Given the description of an element on the screen output the (x, y) to click on. 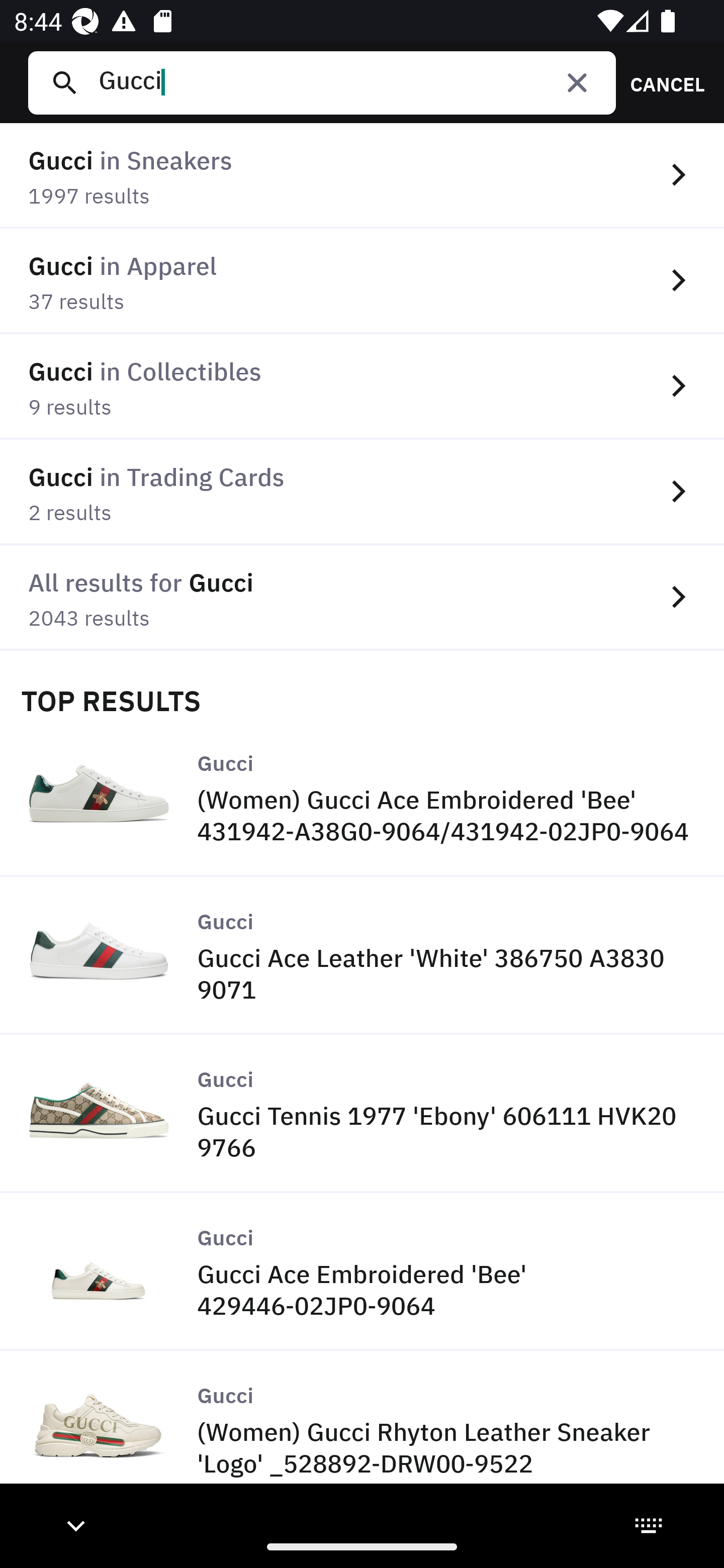
CANCEL (660, 82)
Gucci (349, 82)
 (577, 82)
Gucci  in Sneakers 1997 results  (362, 175)
Gucci  in Apparel 37 results  (362, 280)
Gucci  in Collectibles 9 results  (362, 386)
Gucci  in Trading Cards 2 results  (362, 492)
All results for  Gucci 2043 results  (362, 597)
Gucci Gucci Ace Leather 'White' 386750 A3830 9071 (362, 955)
Gucci Gucci Tennis 1977 'Ebony' 606111 HVK20 9766 (362, 1113)
